Given the description of an element on the screen output the (x, y) to click on. 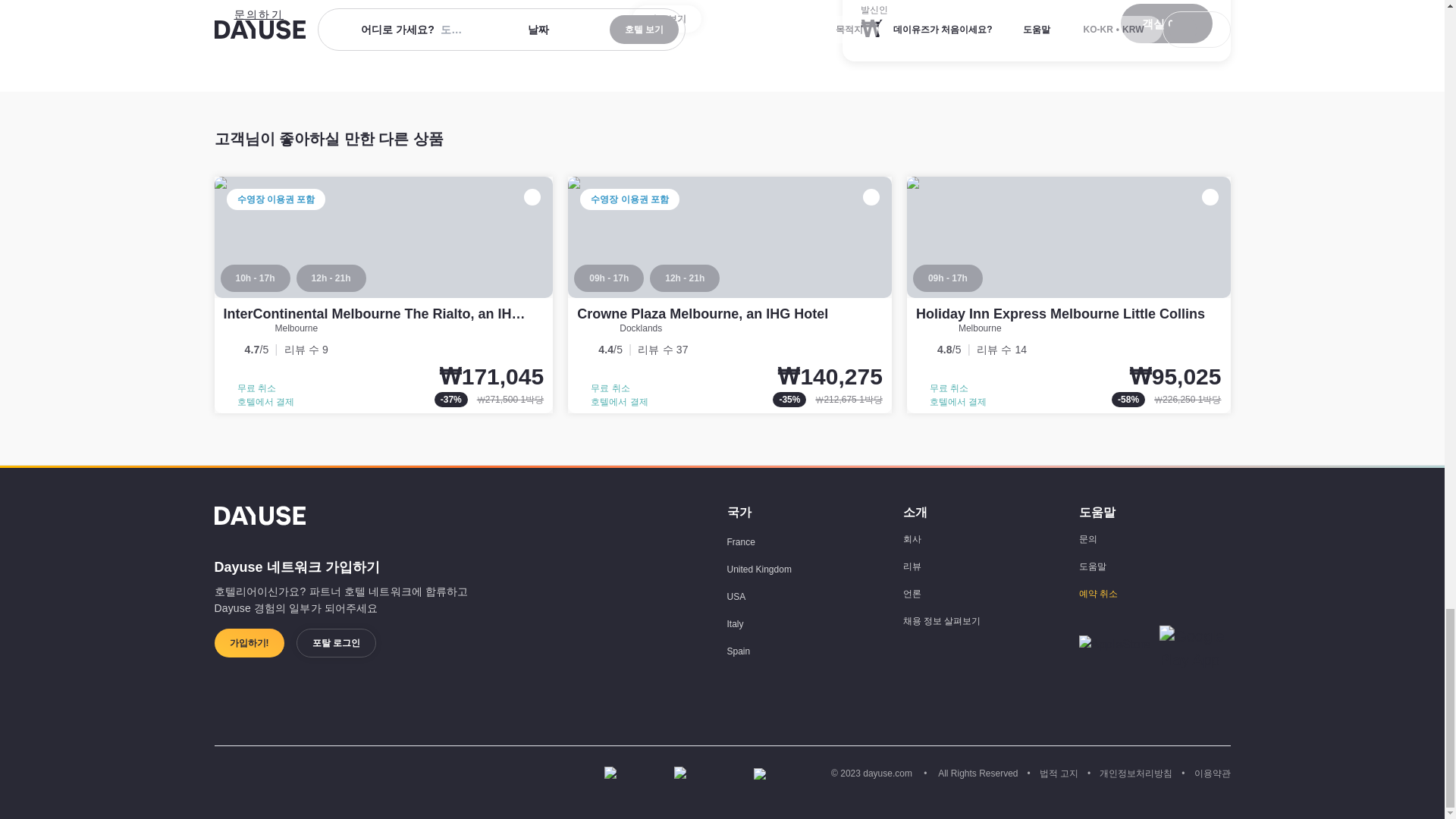
Crowne Plaza Melbourne, an IHG Hotel (702, 313)
Holiday Inn Express Melbourne Little Collins (1060, 313)
Crowne Plaza Melbourne, an IHG Hotel (729, 294)
Holiday Inn Express Melbourne Little Collins (1068, 294)
InterContinental Melbourne The Rialto, an IHG Hotel (383, 294)
InterContinental Melbourne The Rialto, an IHG Hotel (390, 313)
